Given the description of an element on the screen output the (x, y) to click on. 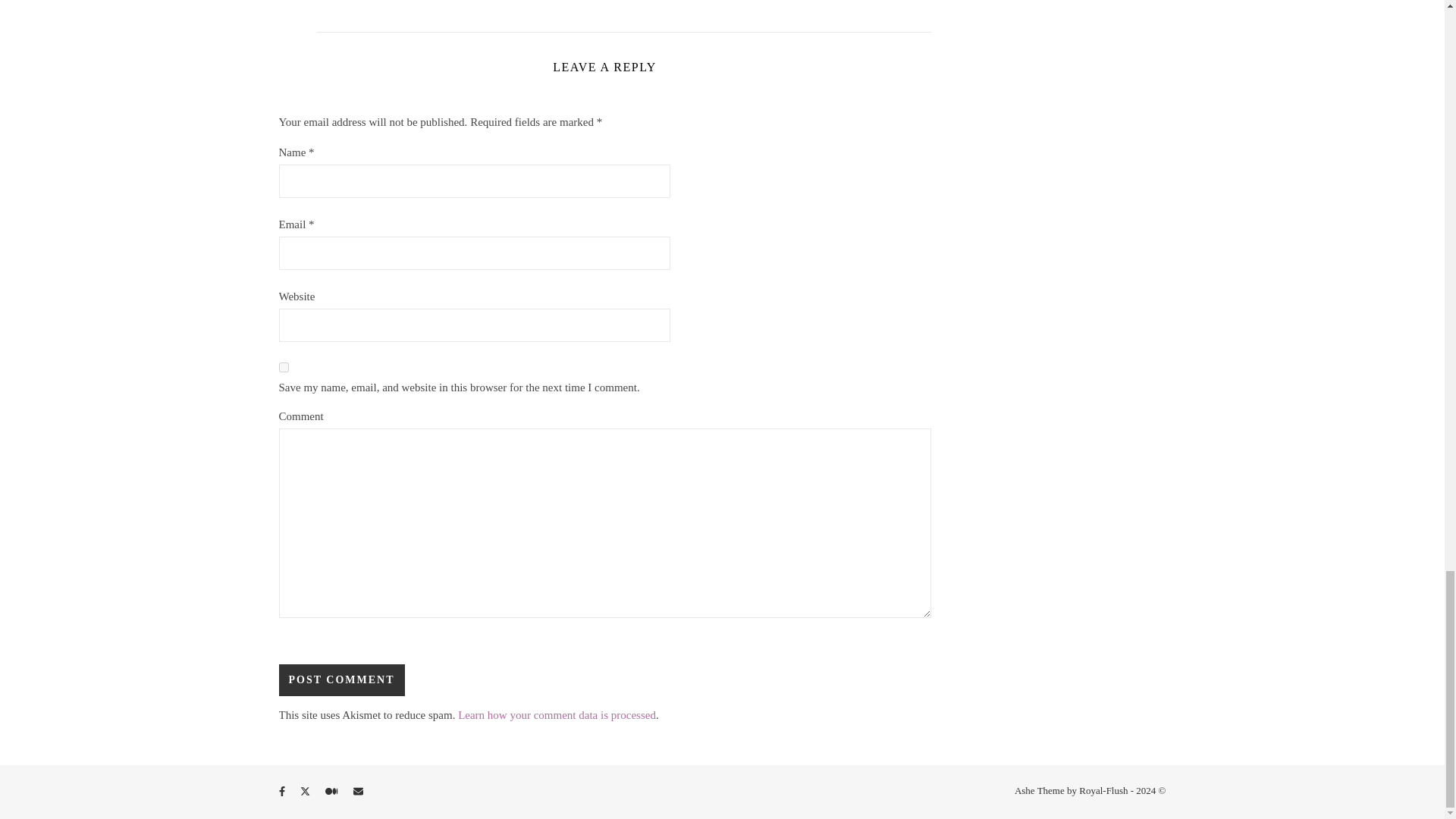
yes (283, 367)
Post Comment (341, 680)
